Given the description of an element on the screen output the (x, y) to click on. 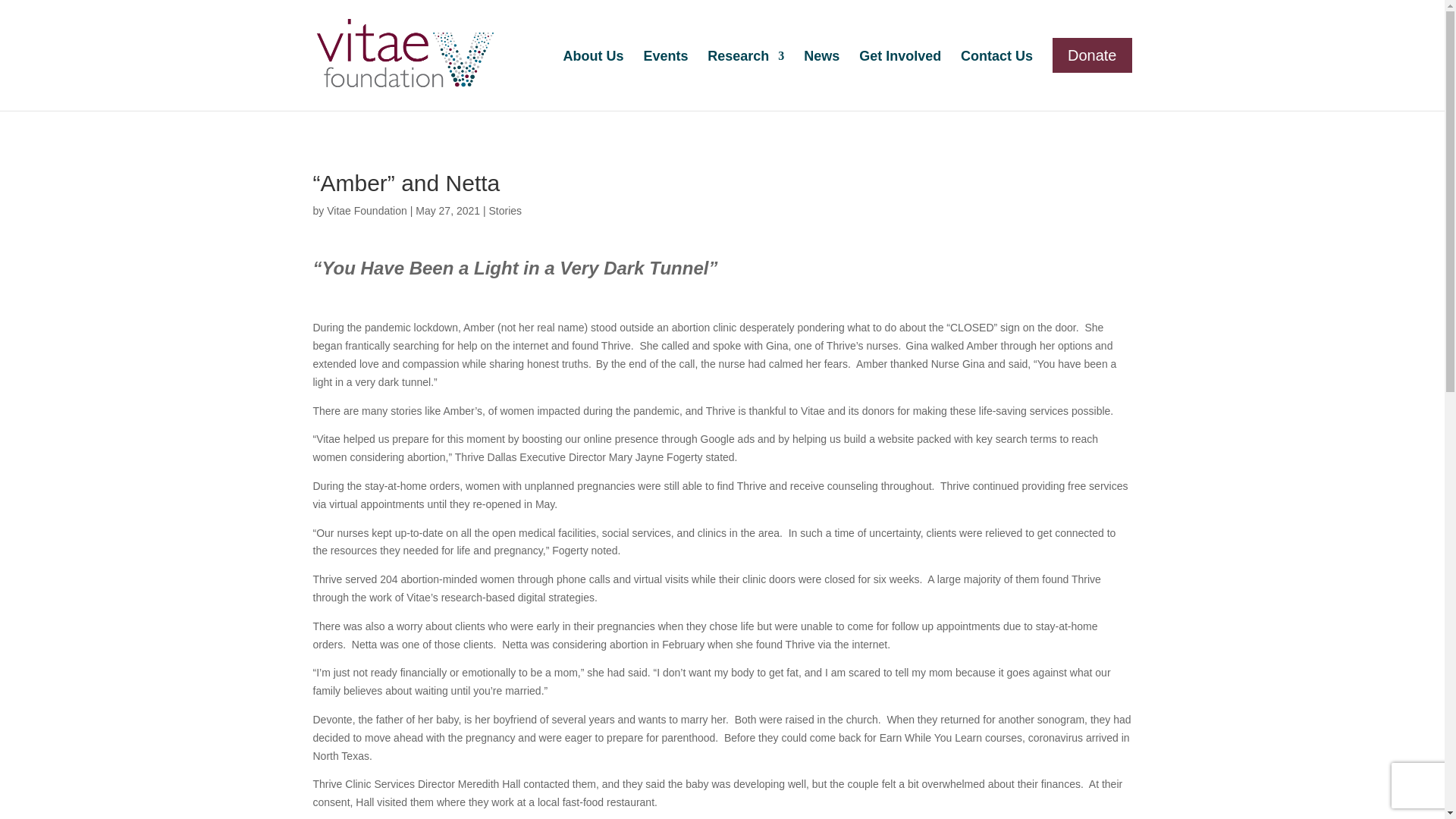
Events (665, 74)
Get Involved (899, 74)
Donate (1092, 54)
Posts by Vitae Foundation (366, 210)
Stories (504, 210)
About Us (592, 74)
Research (745, 74)
Contact Us (996, 74)
Vitae Foundation (366, 210)
